Given the description of an element on the screen output the (x, y) to click on. 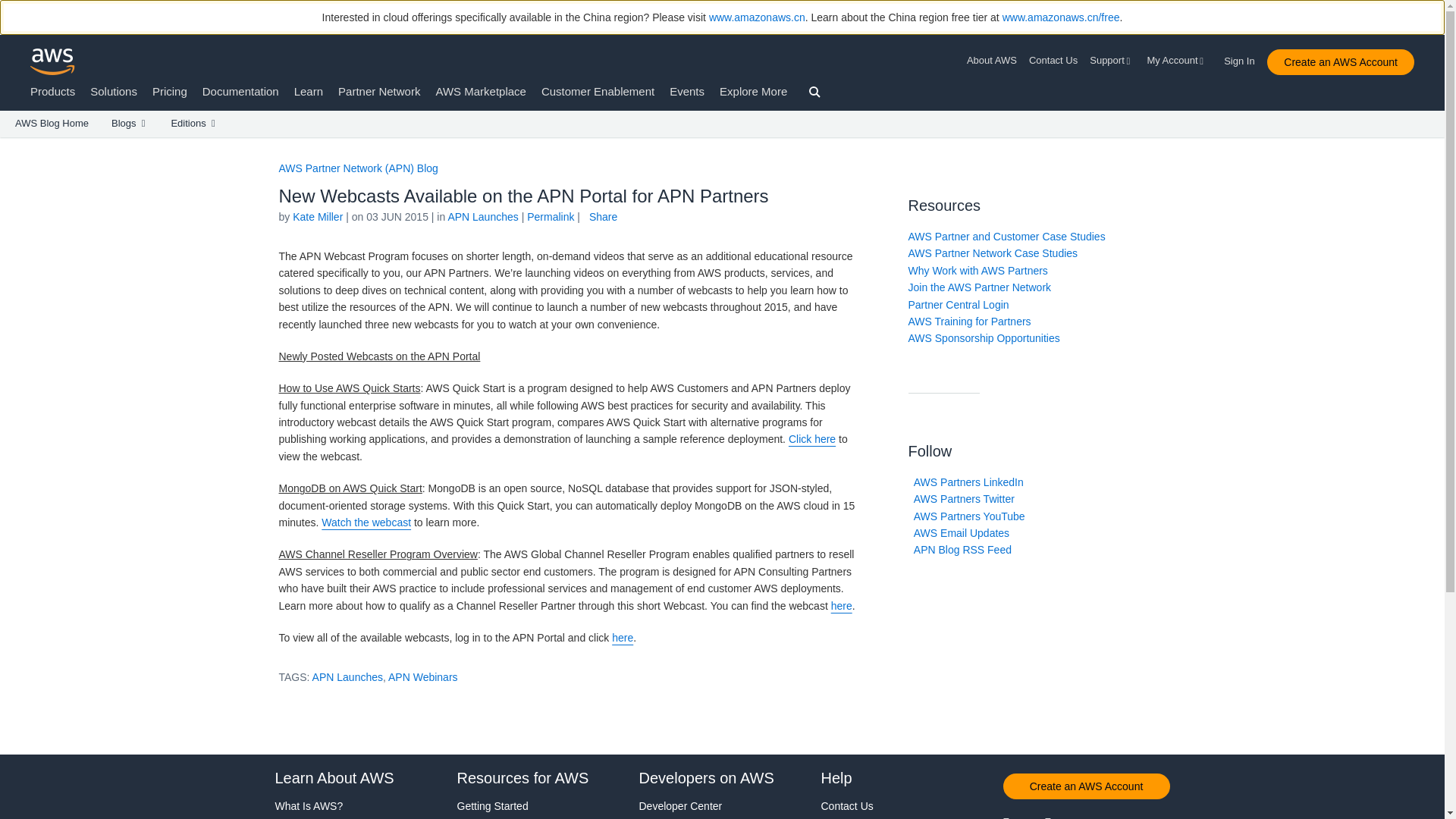
AWS Marketplace (480, 91)
Create an AWS Account (1339, 62)
Linkedin (1106, 816)
Facebook (1065, 816)
Twitter (1023, 816)
Solutions (113, 91)
Partner Network (378, 91)
Skip to Main Content (7, 143)
Learn (308, 91)
Instagram (1149, 816)
